Given the description of an element on the screen output the (x, y) to click on. 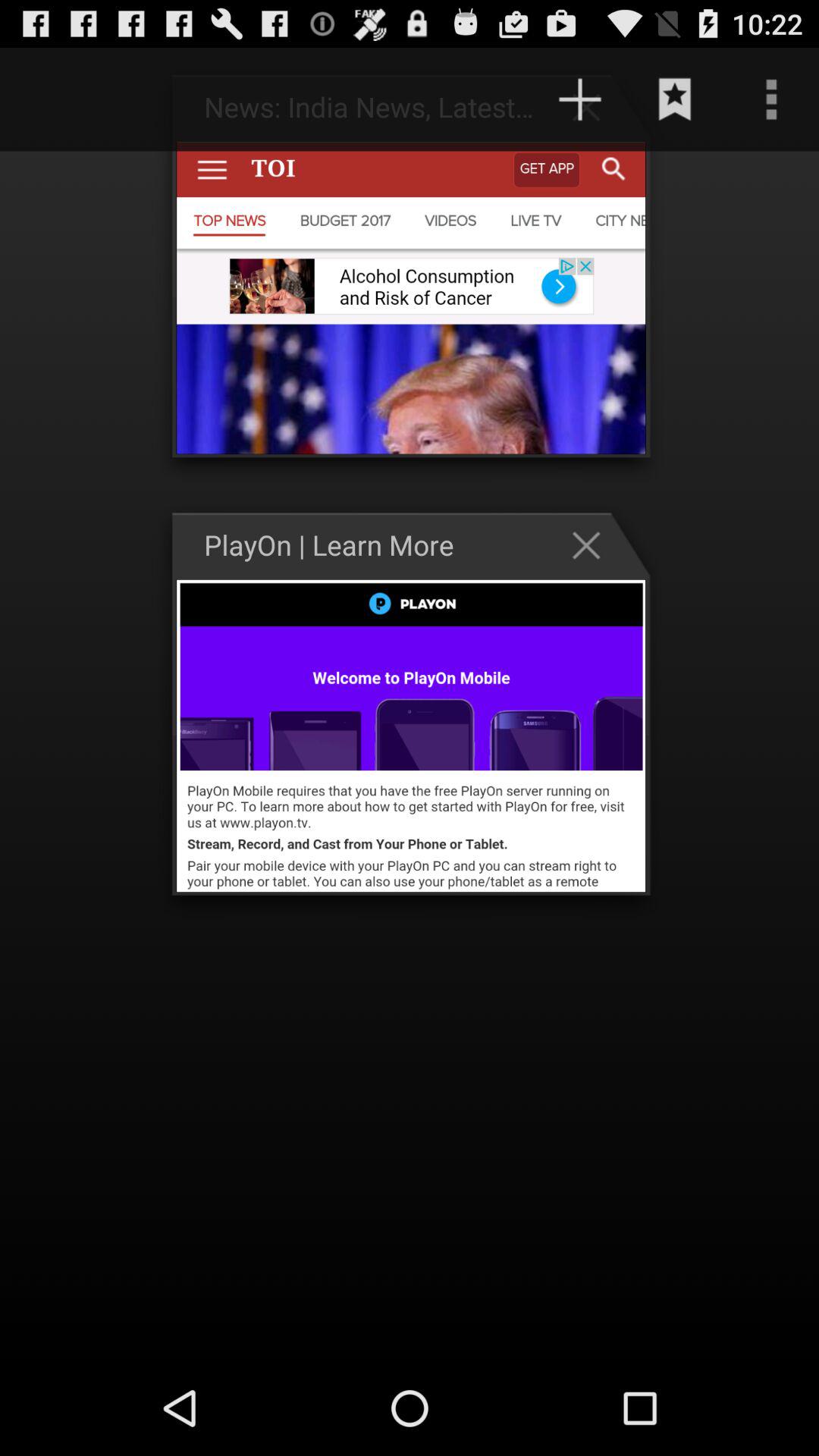
choose the icon next to http www playon (62, 99)
